Given the description of an element on the screen output the (x, y) to click on. 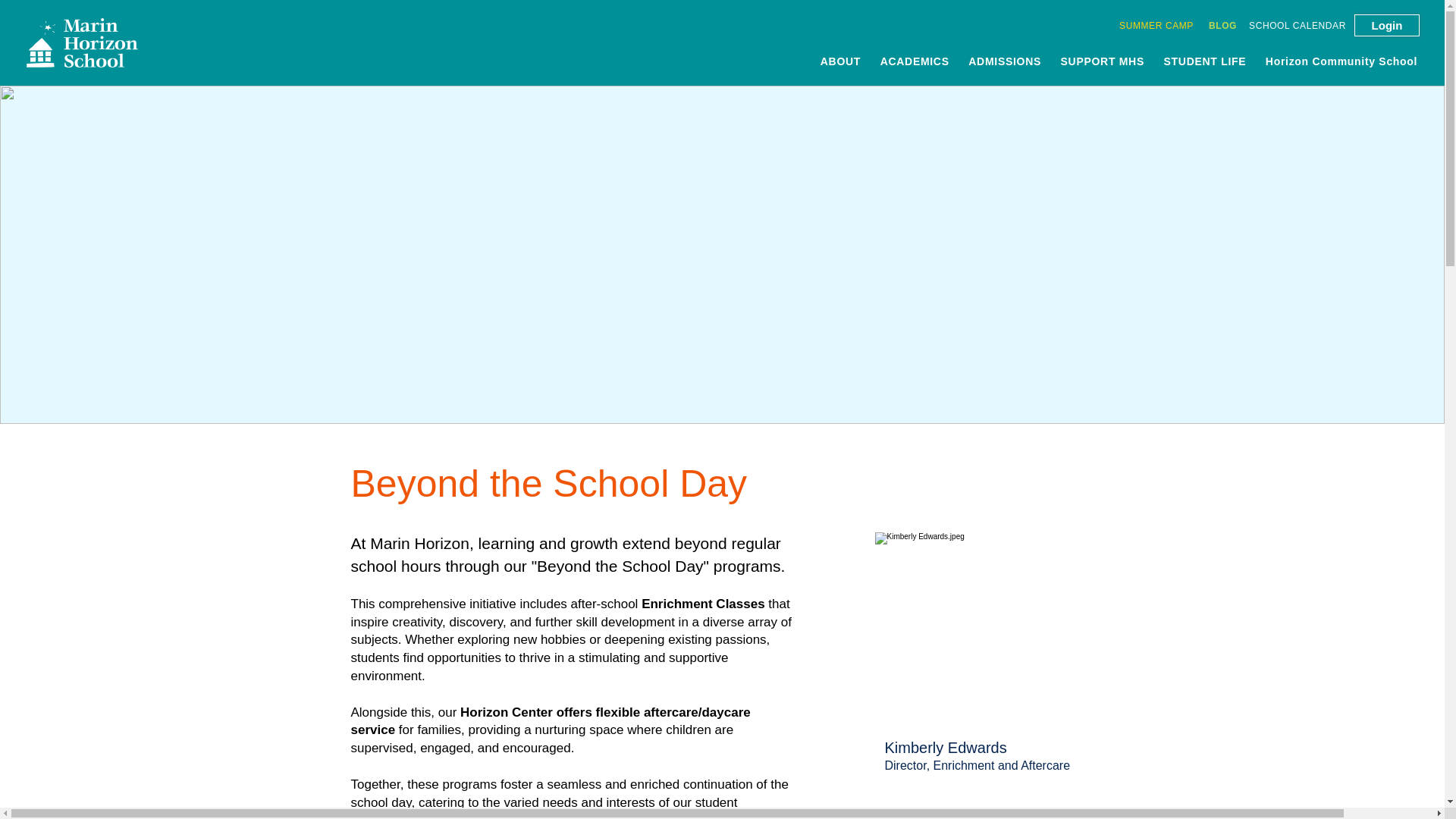
STUDENT LIFE (1204, 61)
SCHOOL CALENDAR (1297, 25)
MarinHorizon-Fall22-19.jpg (984, 629)
ABOUT (840, 61)
SUPPORT MHS (1102, 61)
SUMMER CAMP (1155, 25)
BLOG (1222, 25)
Login (1386, 25)
ACADEMICS (915, 61)
ADMISSIONS (1004, 61)
